Given the description of an element on the screen output the (x, y) to click on. 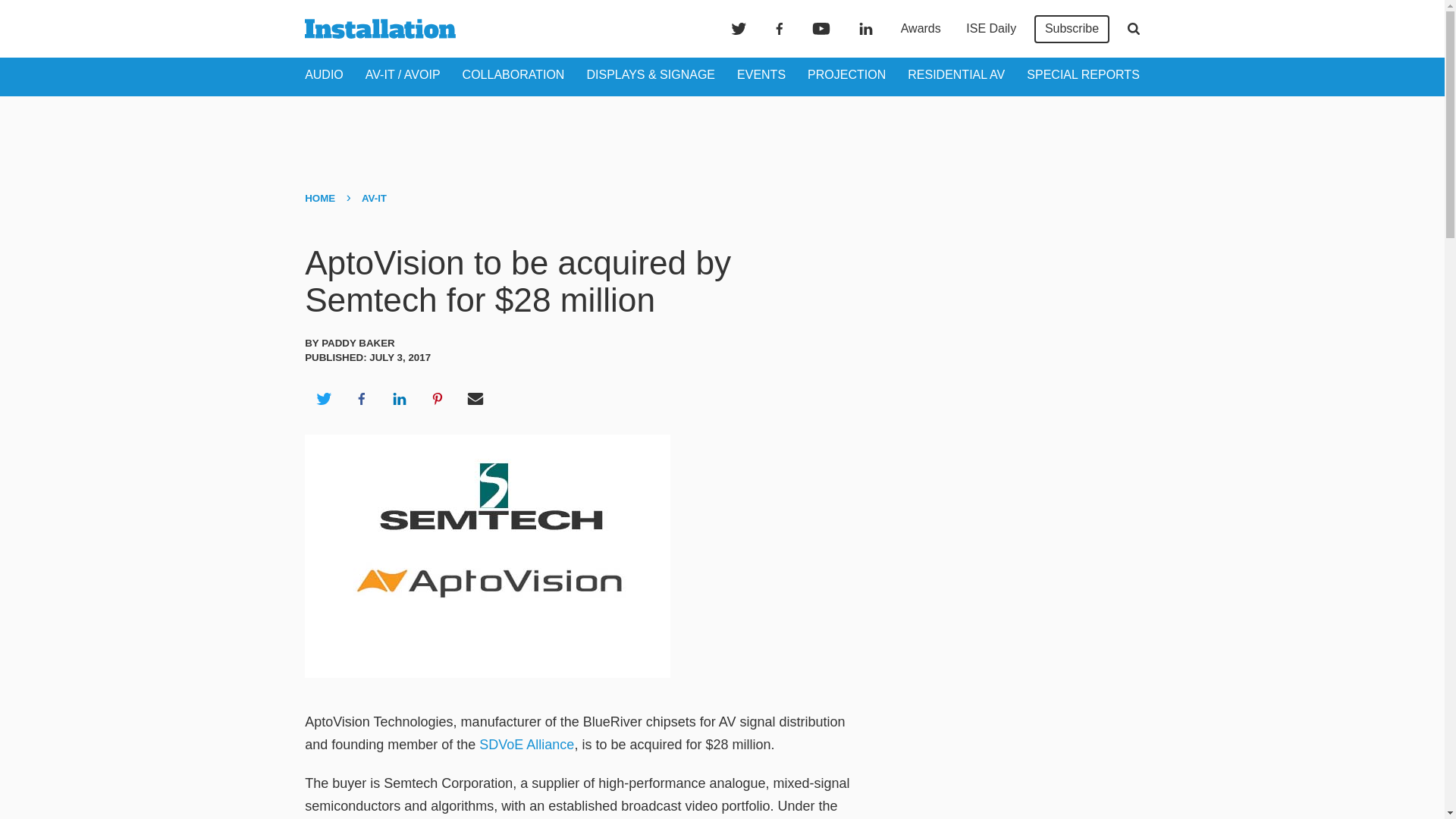
Share on Facebook (361, 398)
Paddy Baker's Author Profile (357, 342)
Share via Email (476, 398)
Share on Pinterest (438, 398)
Awards (921, 29)
ISE Daily (990, 29)
AUDIO (323, 74)
COLLABORATION (513, 74)
Subscribe (1071, 29)
Share on LinkedIn (399, 398)
